Given the description of an element on the screen output the (x, y) to click on. 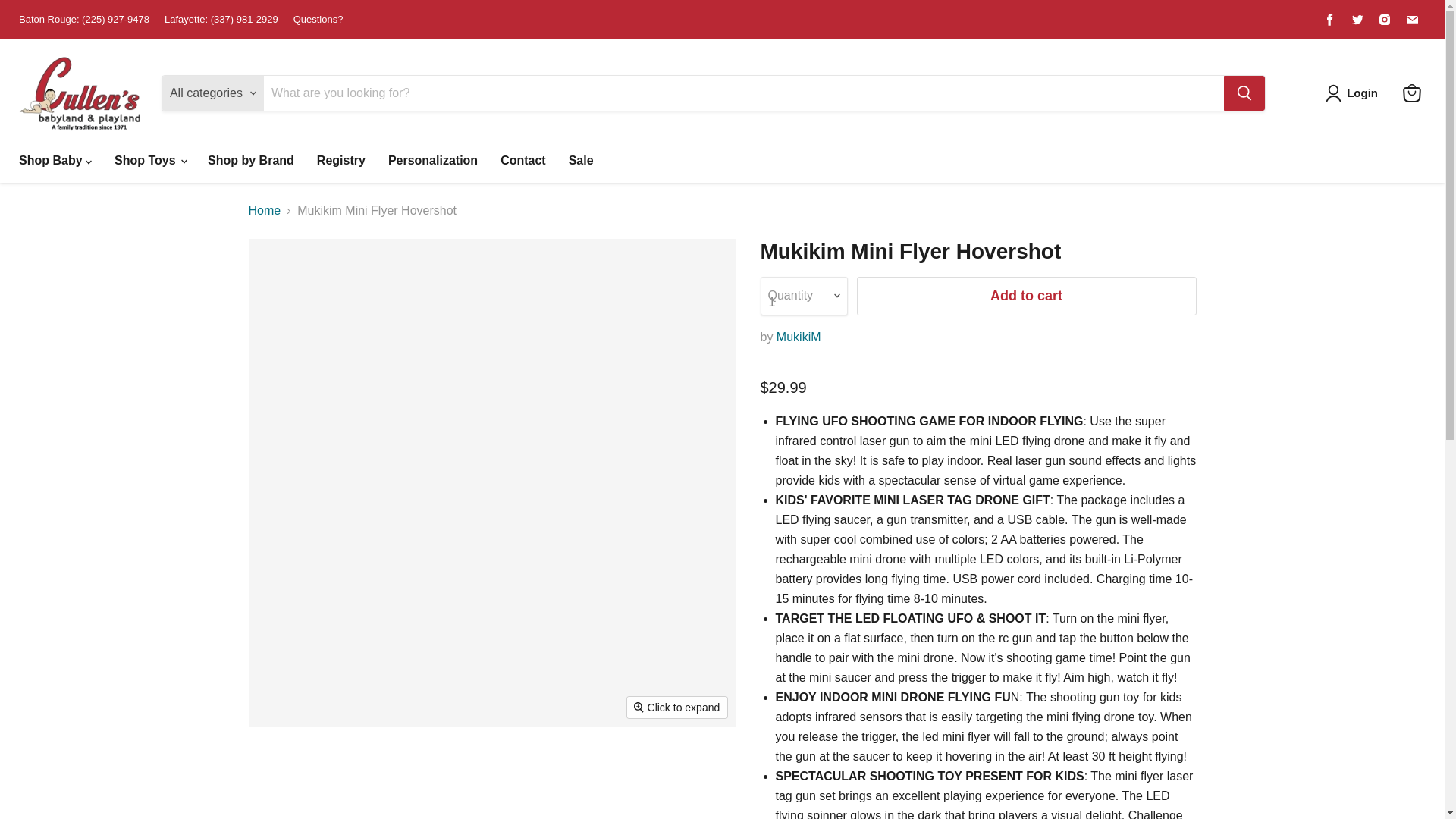
Twitter (1357, 19)
Questions? (318, 19)
Email (1411, 19)
Find us on Instagram (1384, 19)
Login (1362, 93)
Find us on Twitter (1357, 19)
MukikiM (798, 336)
View cart (1411, 92)
Find us on Facebook (1329, 19)
Facebook (1329, 19)
Find us on Email (1411, 19)
Instagram (1384, 19)
